Given the description of an element on the screen output the (x, y) to click on. 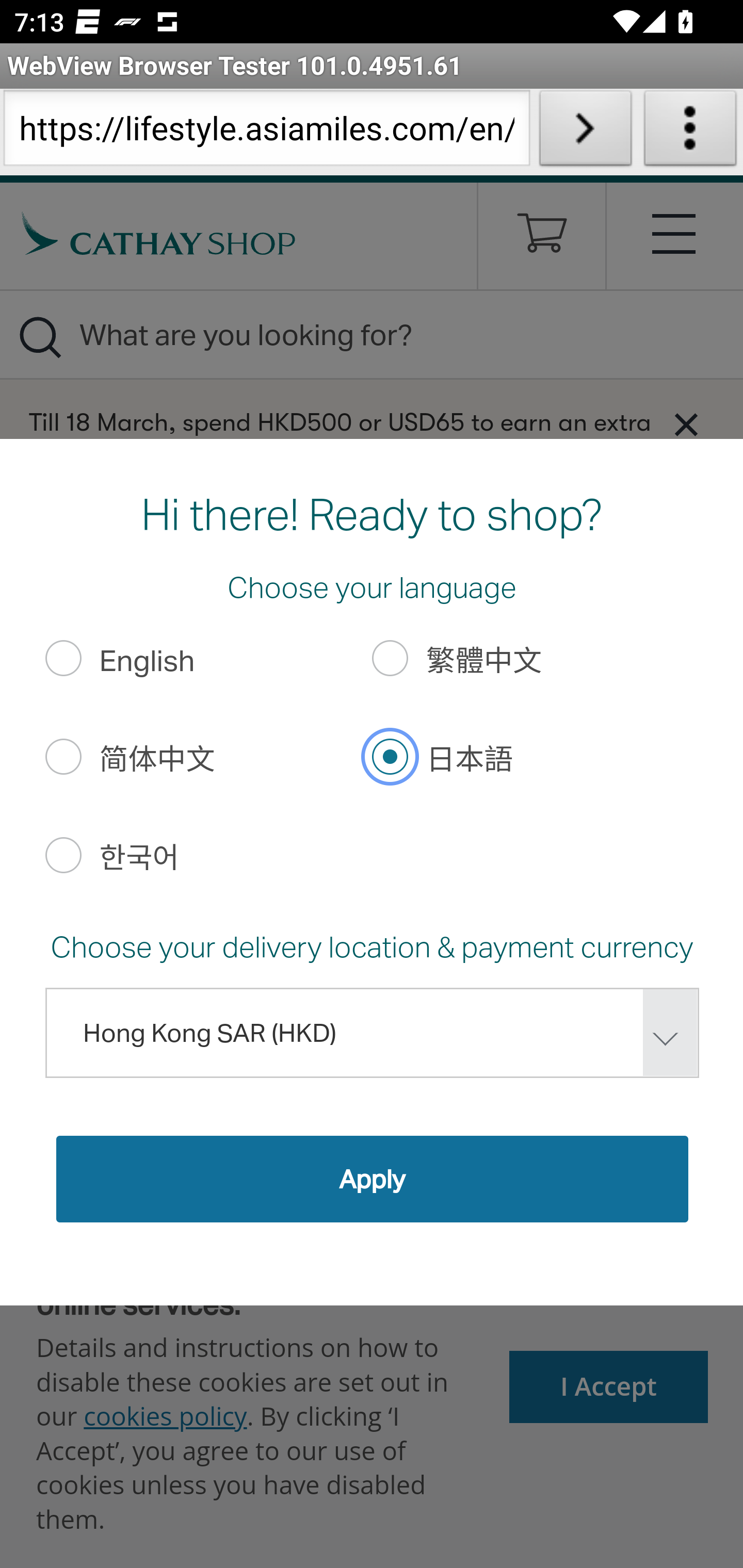
Load URL (585, 132)
About WebView (690, 132)
Mini cart (542, 240)
Menu (675, 232)
en Cathay-Shop-English-Horizontal-Black-03 (158, 232)
What are you looking for? (371, 334)
English (63, 658)
繁體中文 (390, 658)
简体中文 (63, 756)
日本語 (390, 756)
한국어 (63, 854)
Hong Kong SAR (HKD) (371, 1032)
apply (371, 1178)
I Accept (608, 1386)
cookies policy (165, 1415)
